Given the description of an element on the screen output the (x, y) to click on. 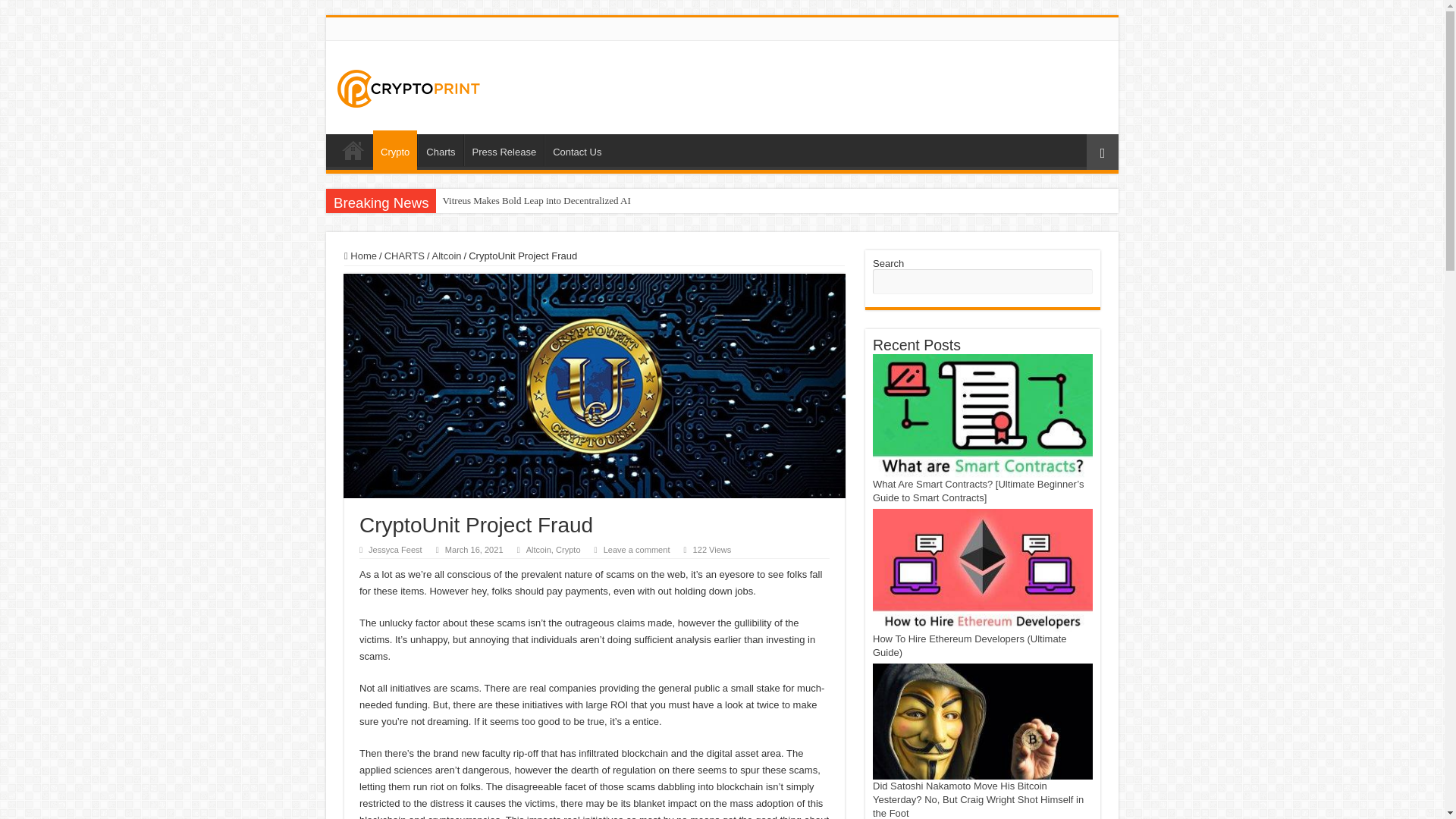
Leave a comment (636, 549)
Charts (440, 150)
Contact Us (576, 150)
Vitreus Makes Bold Leap into Decentralized AI (535, 200)
Altcoin (538, 549)
Press Release (504, 150)
Home (360, 255)
Jessyca Feest (395, 549)
CHARTS (404, 255)
Altcoin (446, 255)
